Given the description of an element on the screen output the (x, y) to click on. 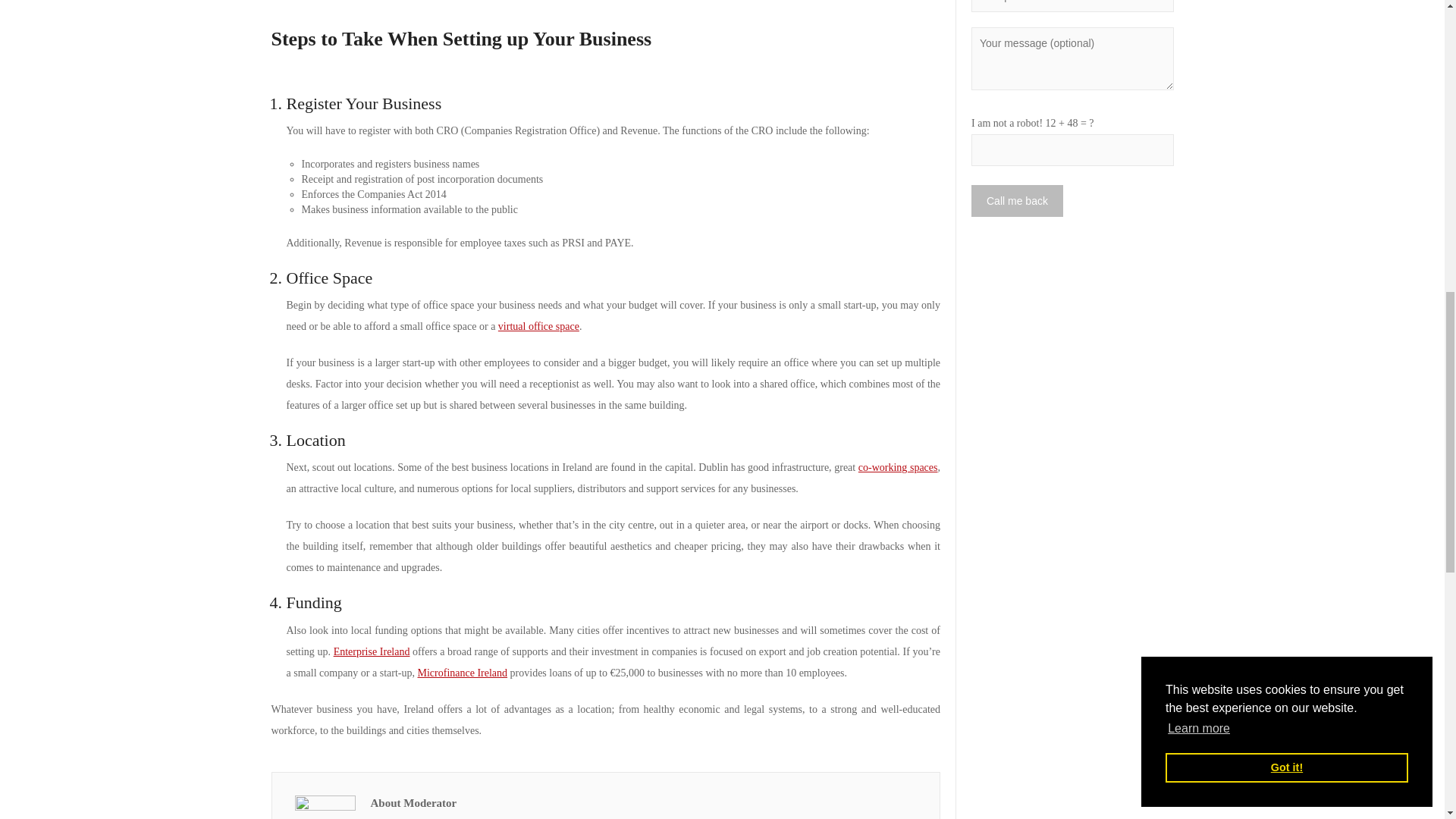
Microfinance Ireland (462, 672)
Call me back (1016, 201)
co-working spaces (898, 467)
Enterprise Ireland (371, 651)
virtual office space (538, 326)
